Given the description of an element on the screen output the (x, y) to click on. 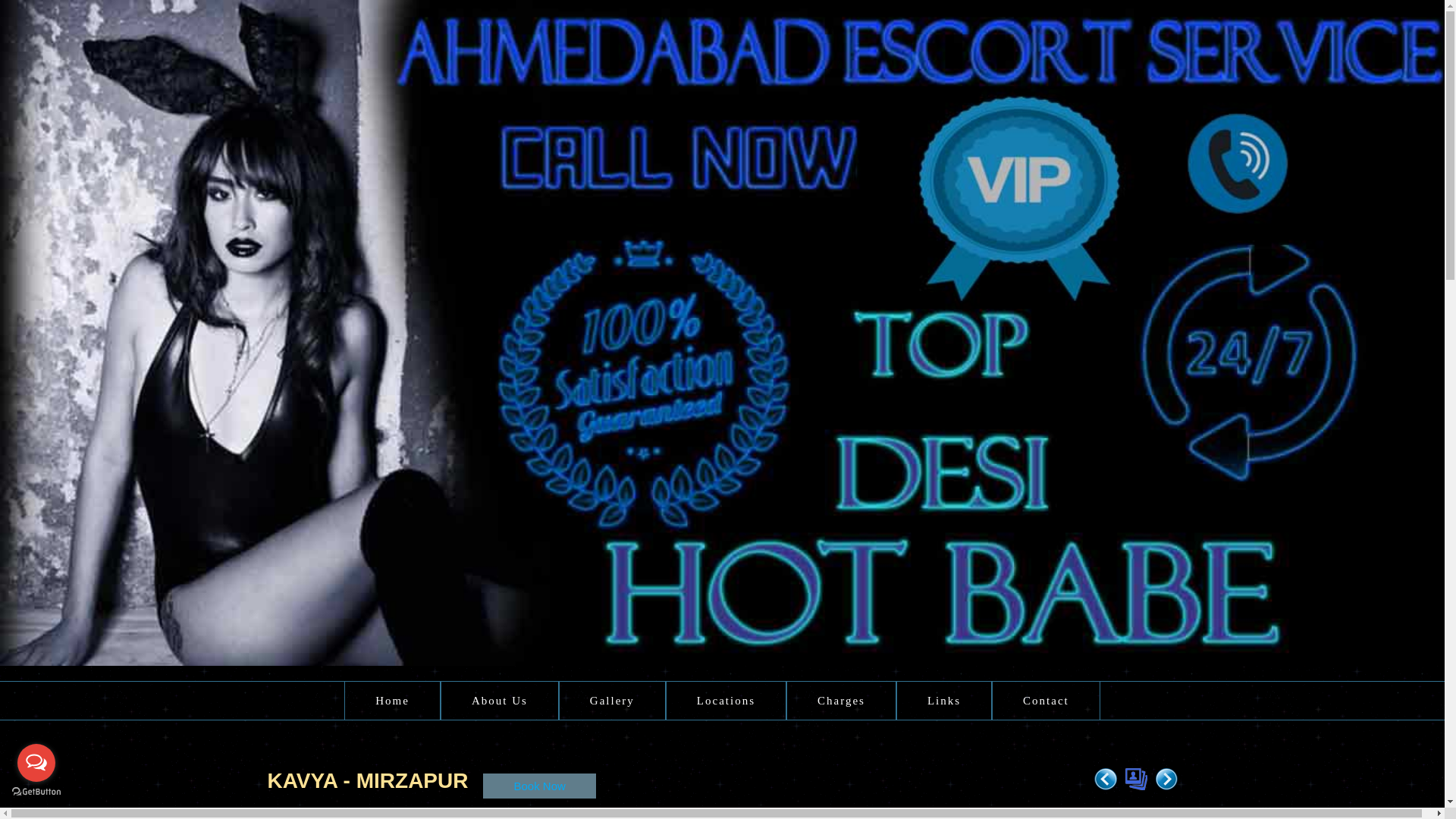
Book Now (539, 785)
Locations (725, 700)
Contact (1045, 700)
Charges (841, 700)
Home (392, 700)
Links (943, 700)
Gallery (612, 700)
About Us (500, 700)
